Given the description of an element on the screen output the (x, y) to click on. 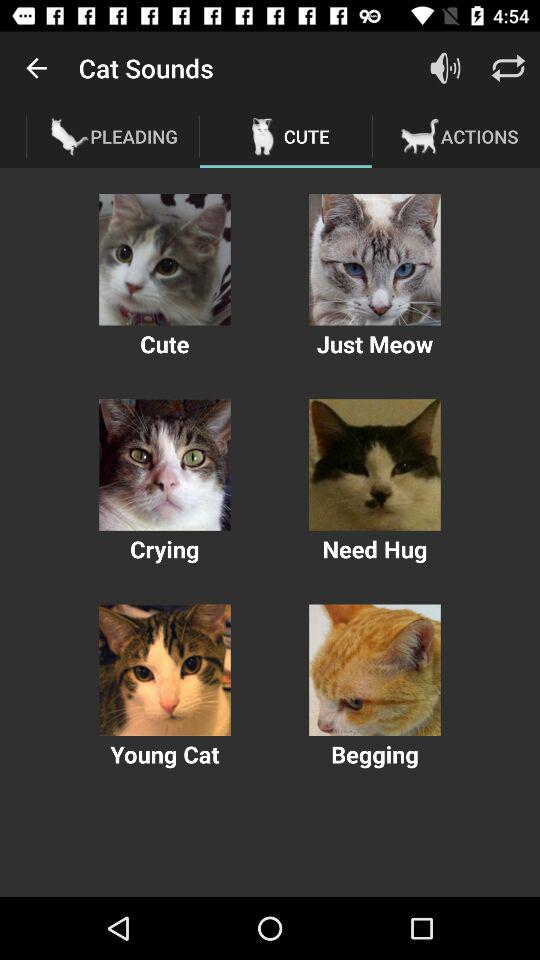
select need hug option (374, 464)
